Given the description of an element on the screen output the (x, y) to click on. 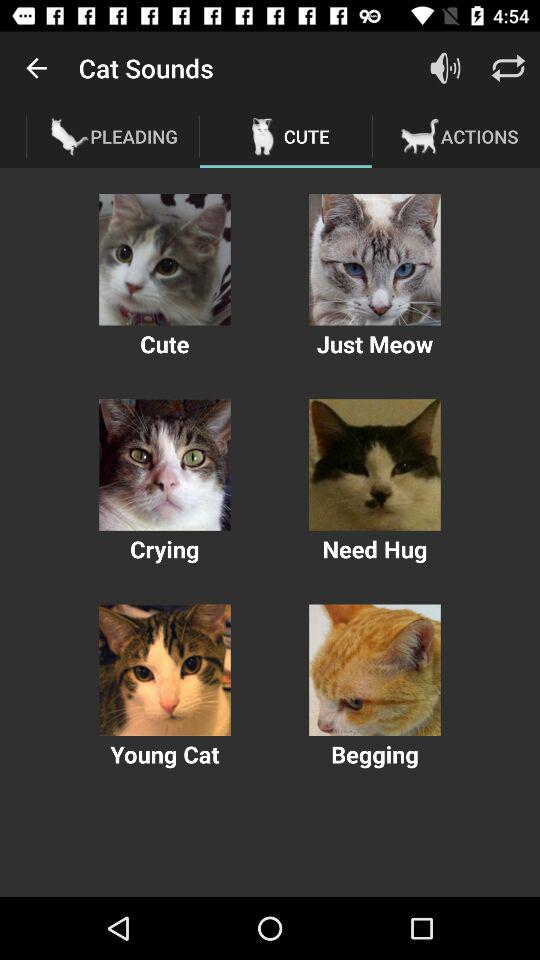
select need hug option (374, 464)
